Given the description of an element on the screen output the (x, y) to click on. 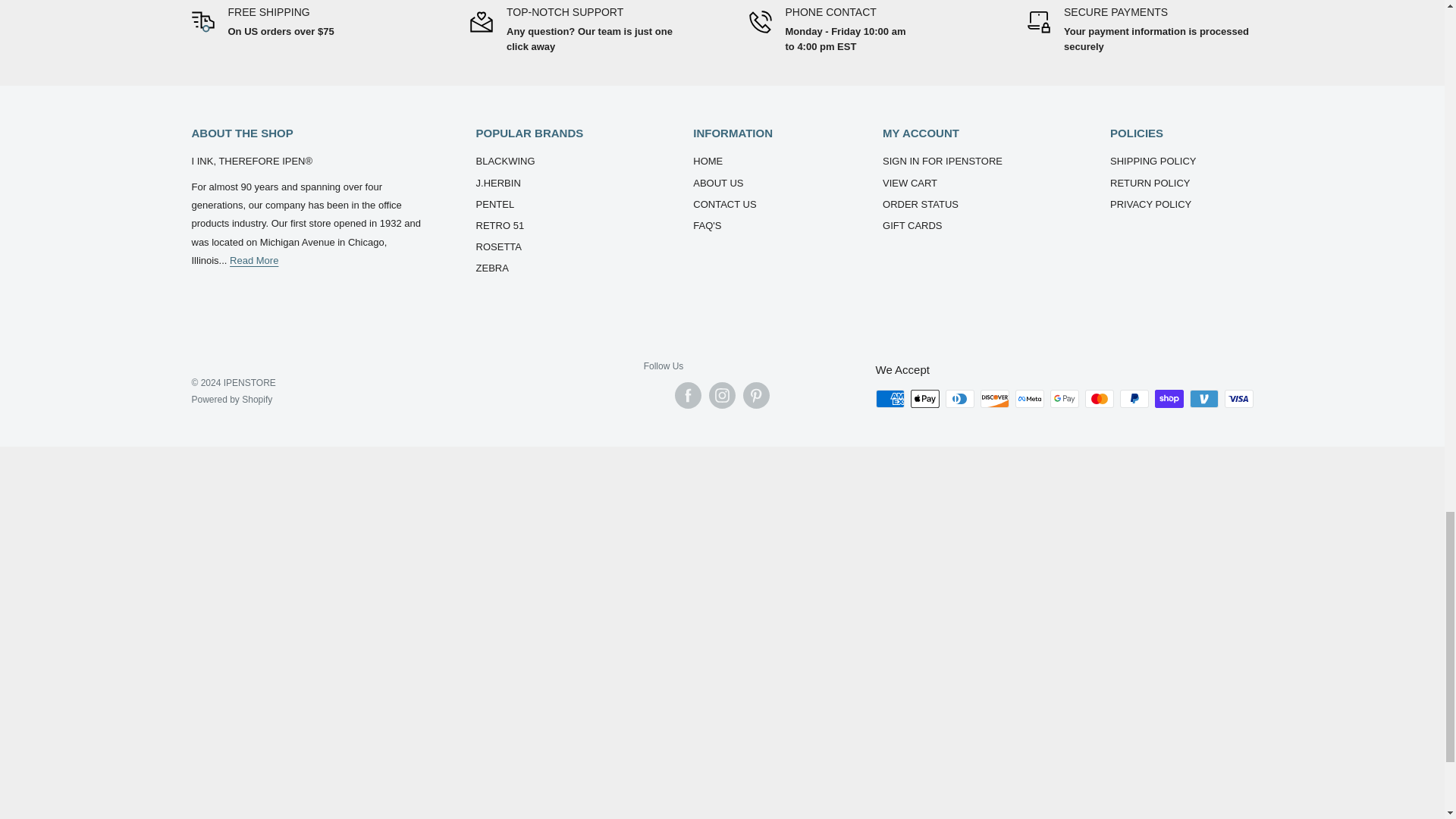
About Us (254, 260)
